Given the description of an element on the screen output the (x, y) to click on. 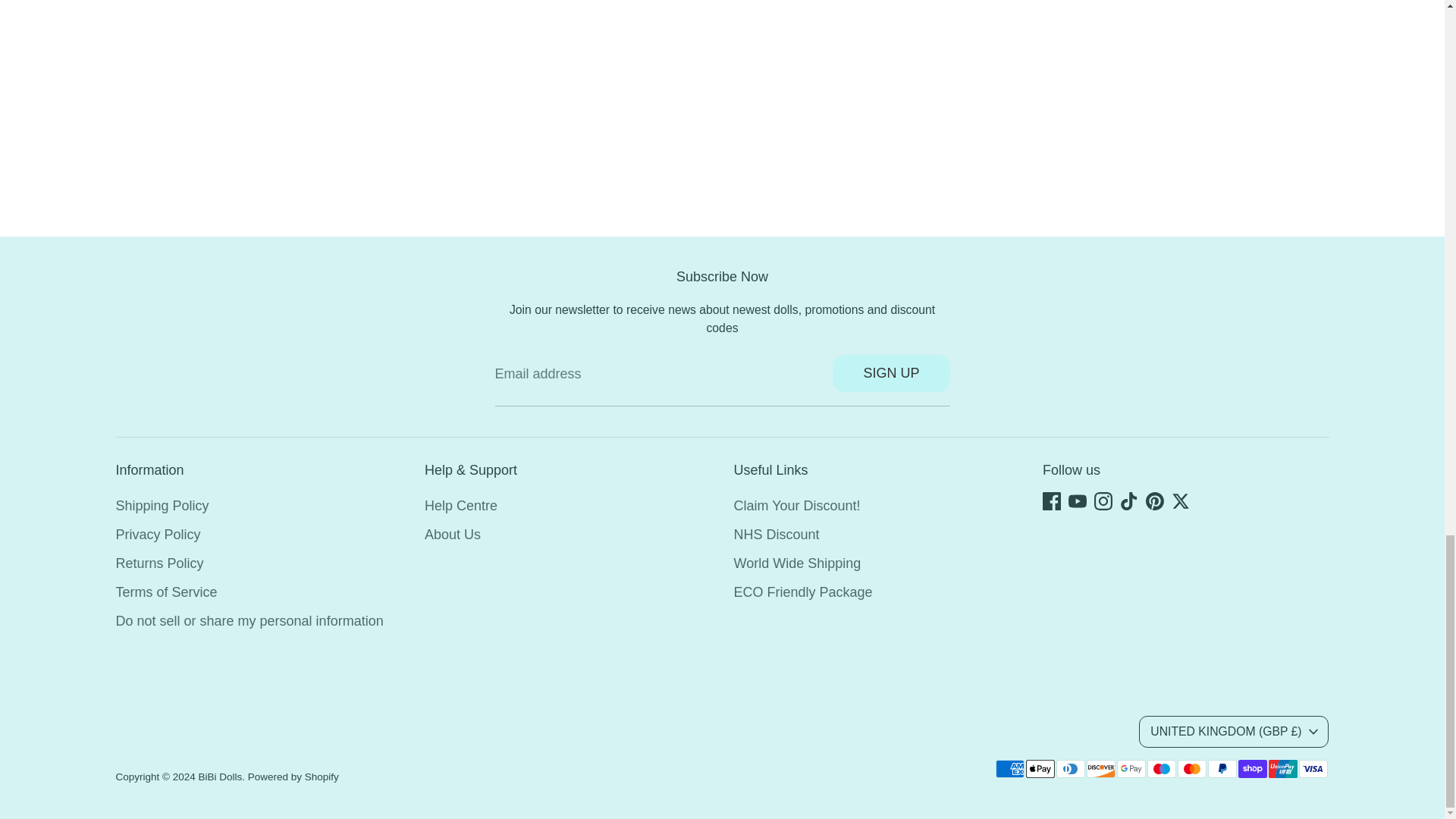
Discover (1100, 769)
American Express (1008, 769)
Diners Club (1069, 769)
Google Pay (1130, 769)
Apple Pay (1039, 769)
